Given the description of an element on the screen output the (x, y) to click on. 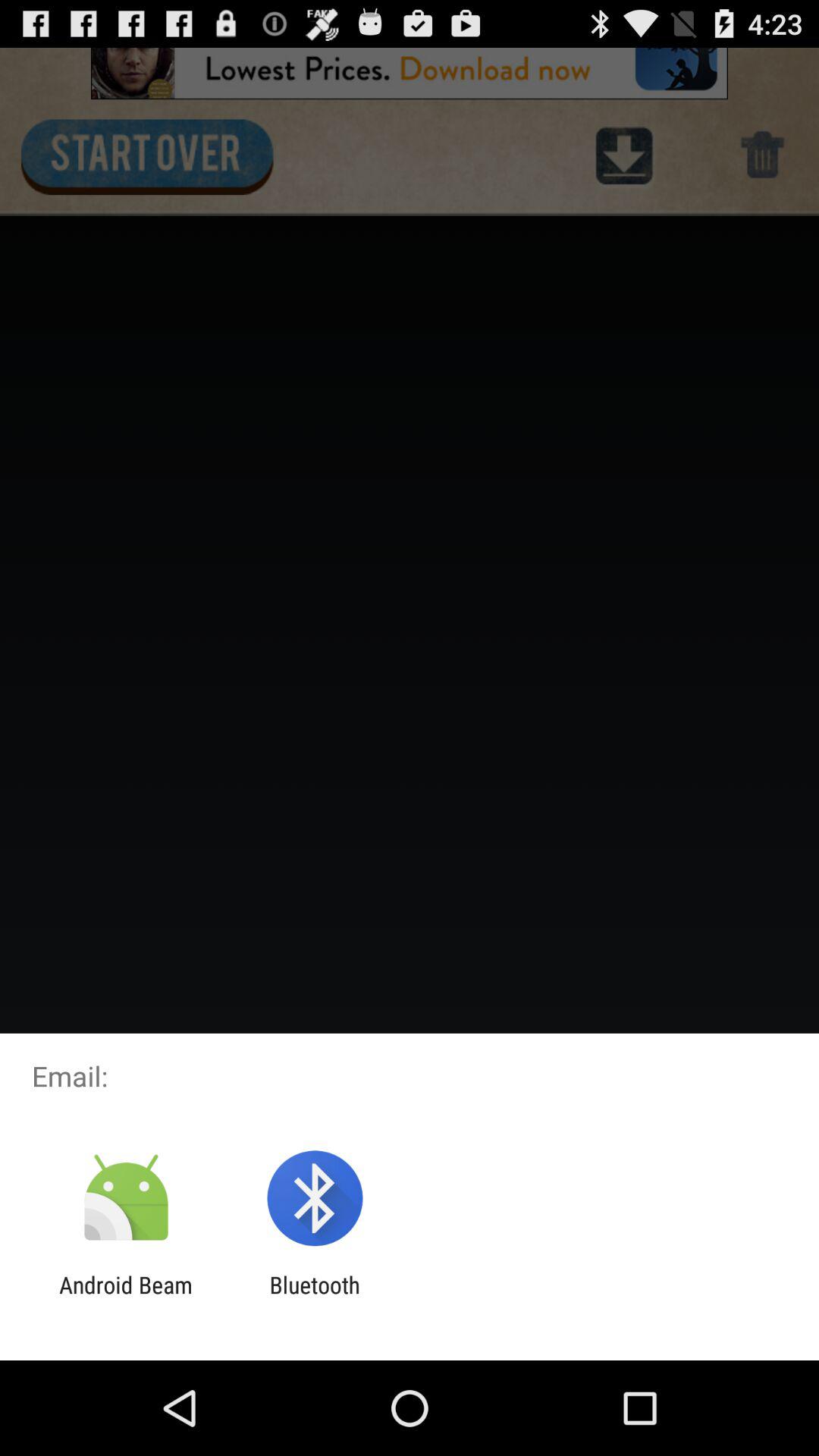
swipe until the android beam (125, 1298)
